Given the description of an element on the screen output the (x, y) to click on. 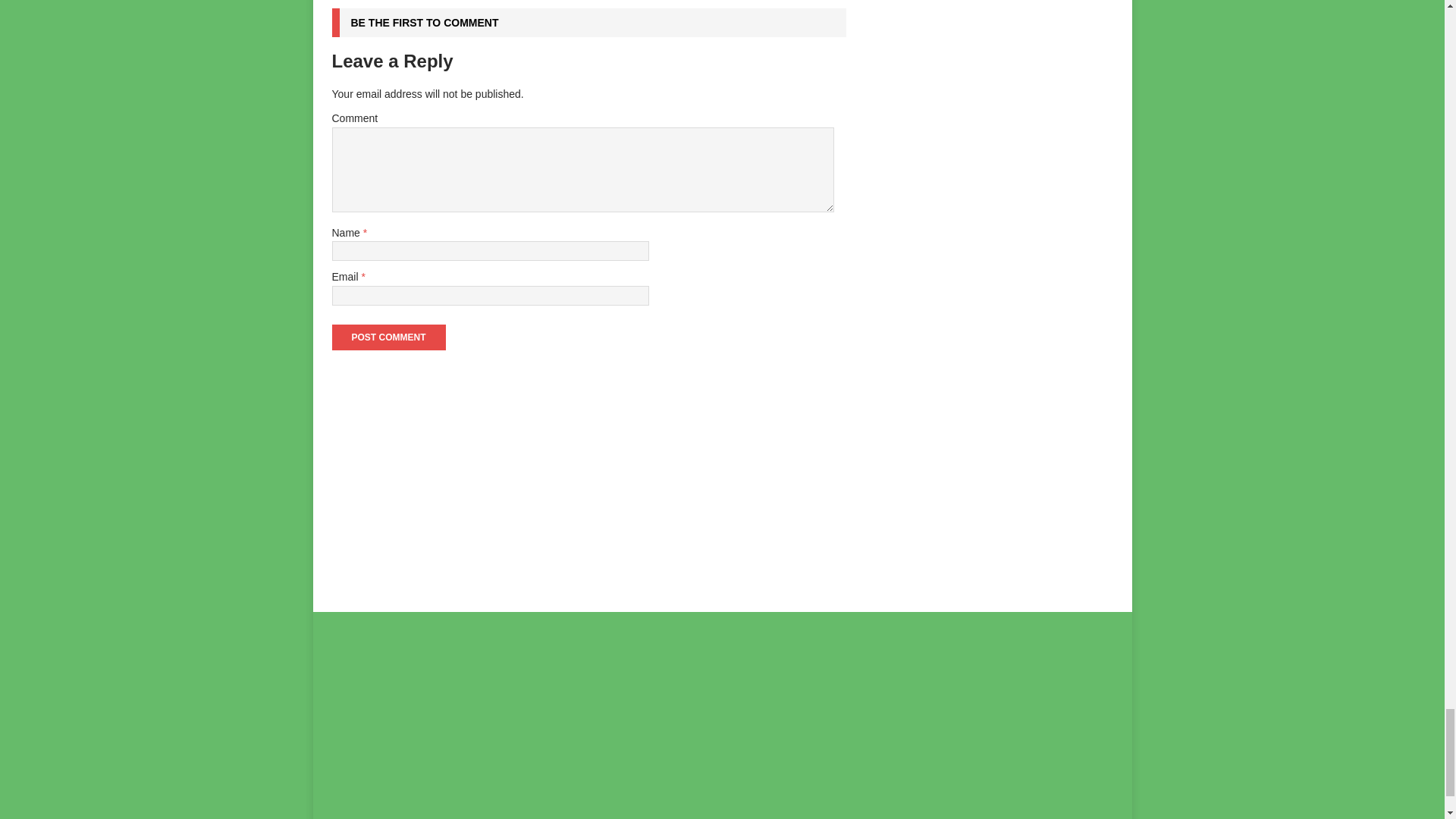
Post Comment (388, 337)
